Given the description of an element on the screen output the (x, y) to click on. 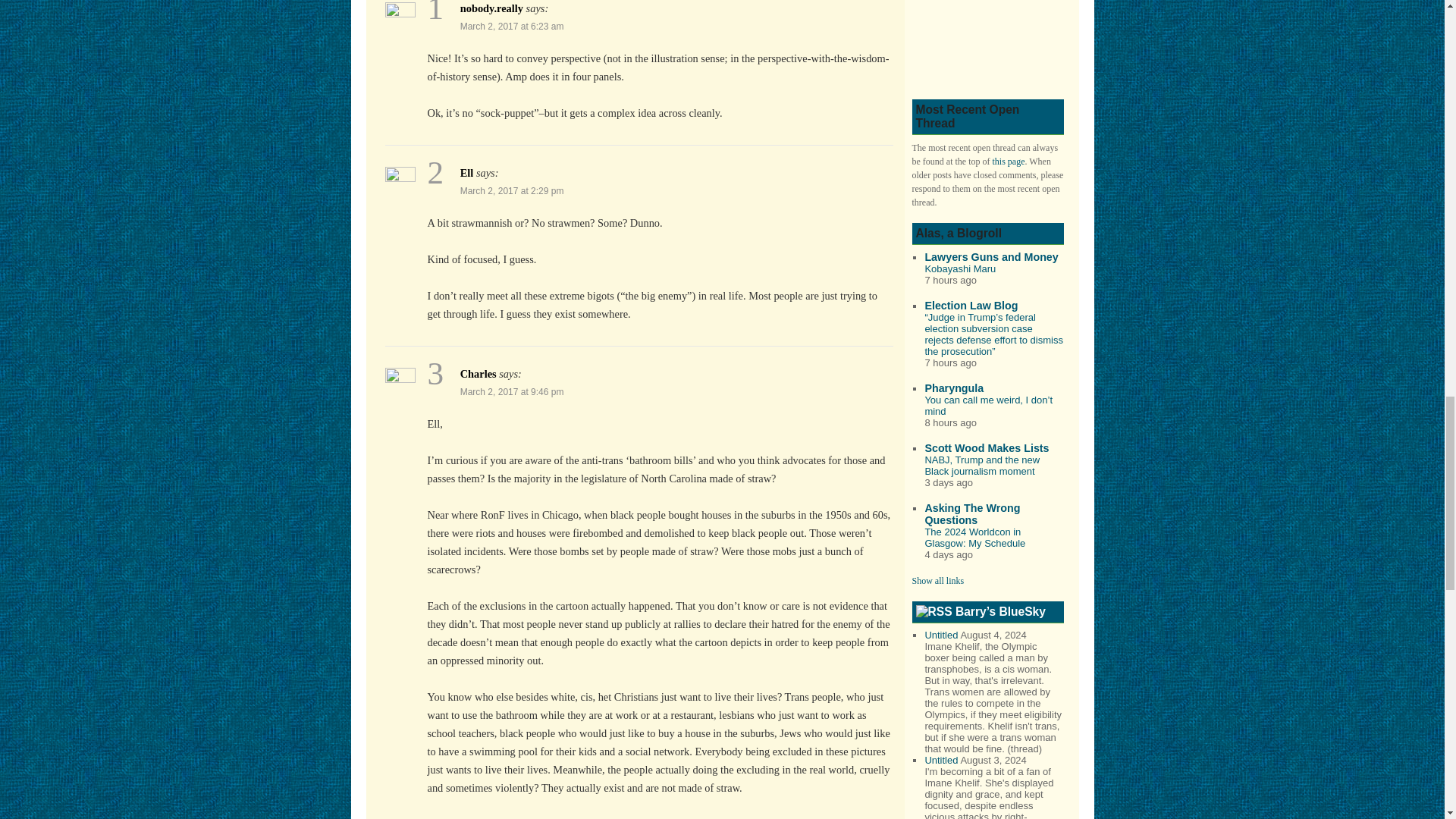
March 2, 2017 at 9:46 pm (512, 391)
March 2, 2017 at 6:23 am (512, 26)
March 2, 2017 at 2:29 pm (512, 190)
